Given the description of an element on the screen output the (x, y) to click on. 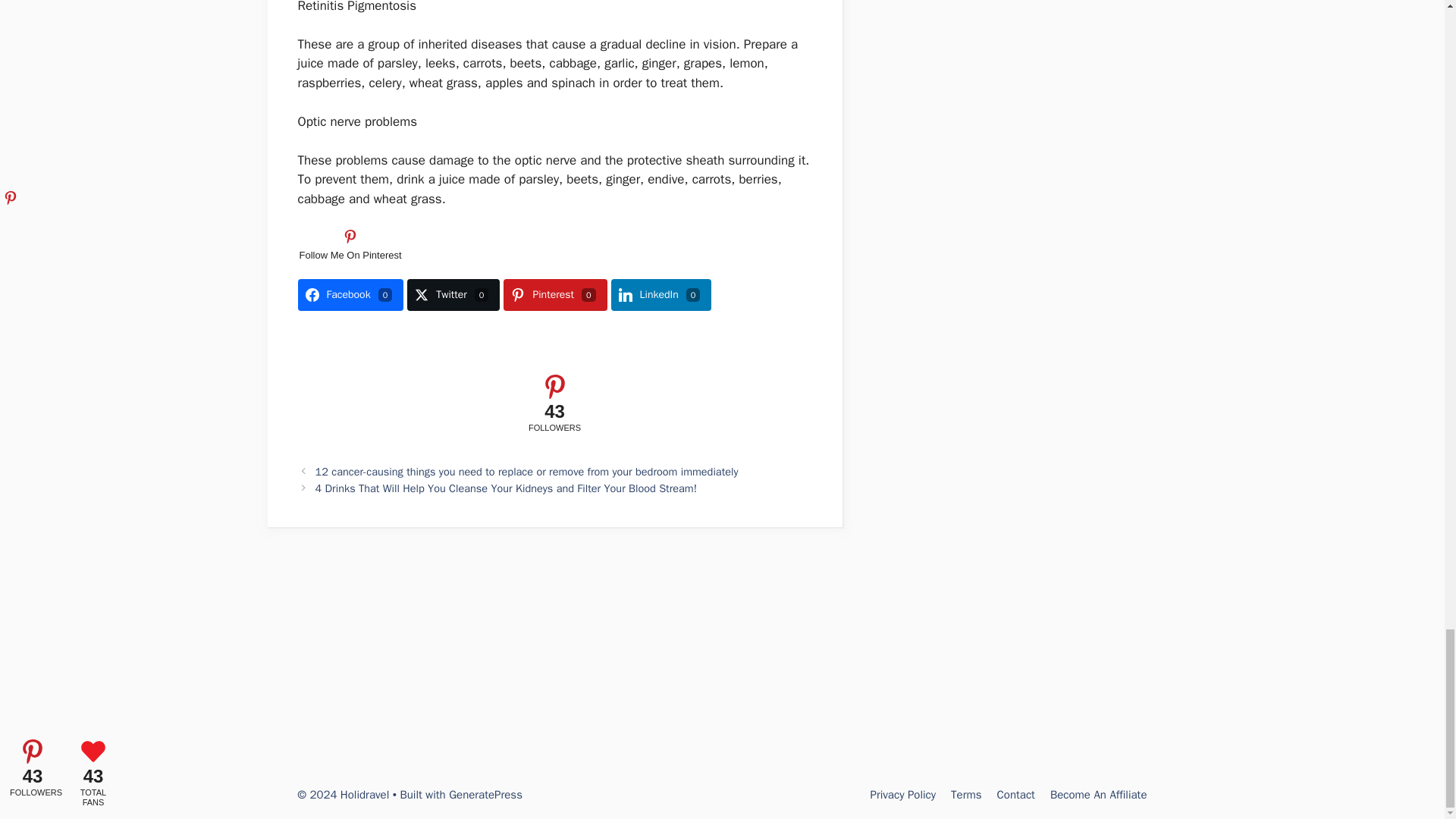
Privacy Policy (902, 794)
GeneratePress (485, 794)
Share on Facebook (350, 295)
Terms (965, 794)
LinkedIn0 (661, 295)
Pinterest0 (555, 295)
Facebook0 (350, 295)
Contact (1016, 794)
Twitter0 (453, 295)
Share on Twitter (453, 295)
Share on Pinterest (555, 295)
Become An Affiliate (1098, 794)
Share on LinkedIn (661, 295)
